Given the description of an element on the screen output the (x, y) to click on. 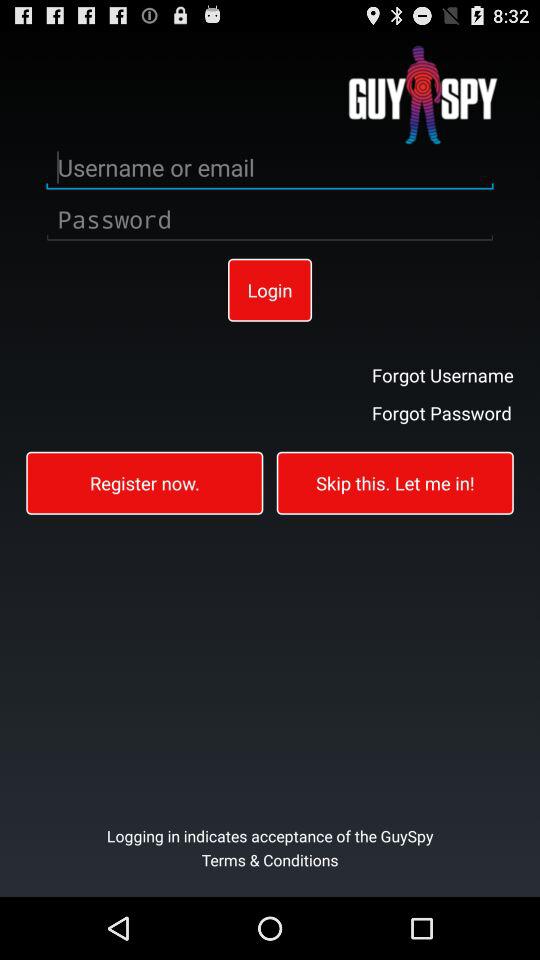
tap the icon to the left of the skip this let button (144, 482)
